Given the description of an element on the screen output the (x, y) to click on. 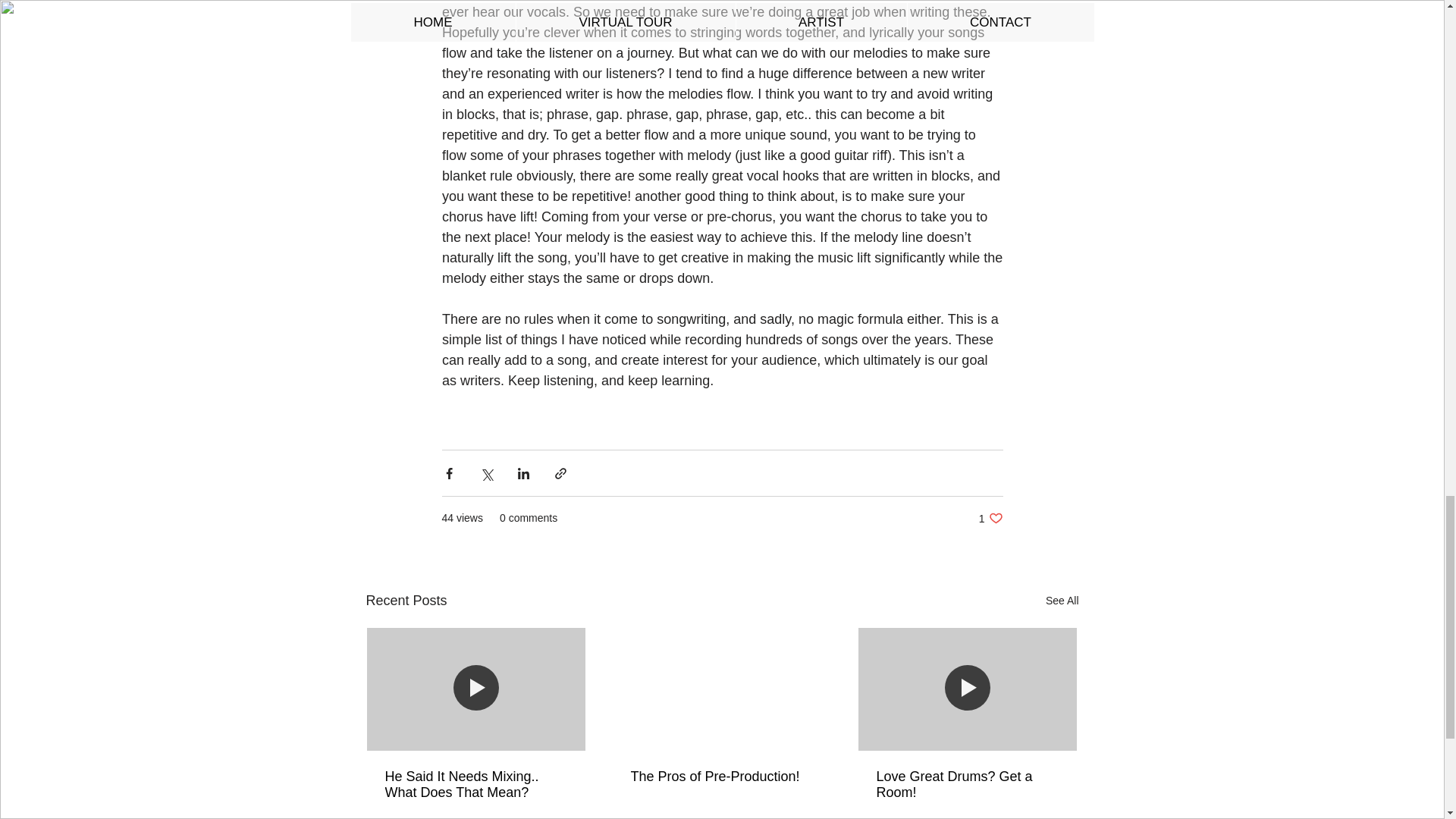
Love Great Drums? Get a Room! (967, 784)
See All (1061, 600)
The Pros of Pre-Production! (721, 776)
He Said It Needs Mixing.. What Does That Mean? (990, 518)
